Given the description of an element on the screen output the (x, y) to click on. 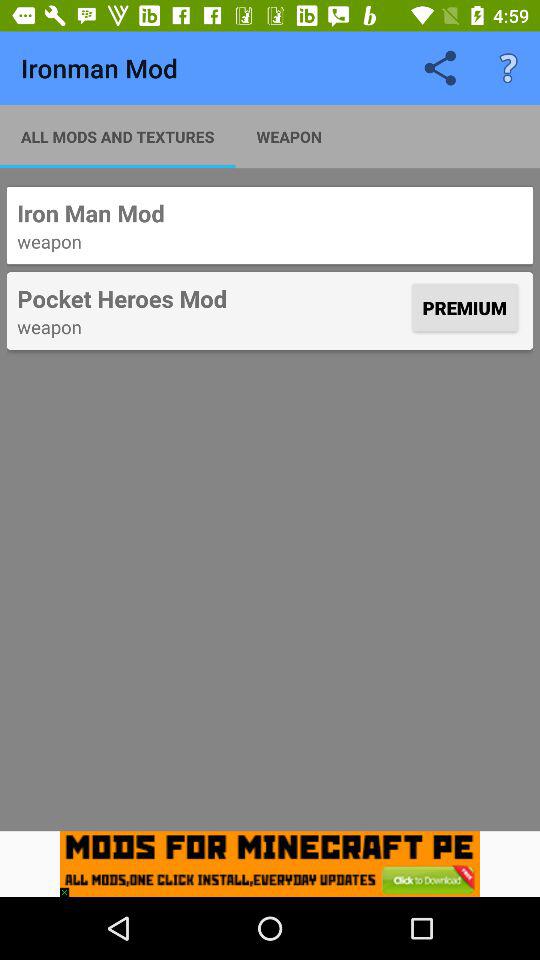
launch the pocket heroes mod item (211, 298)
